Given the description of an element on the screen output the (x, y) to click on. 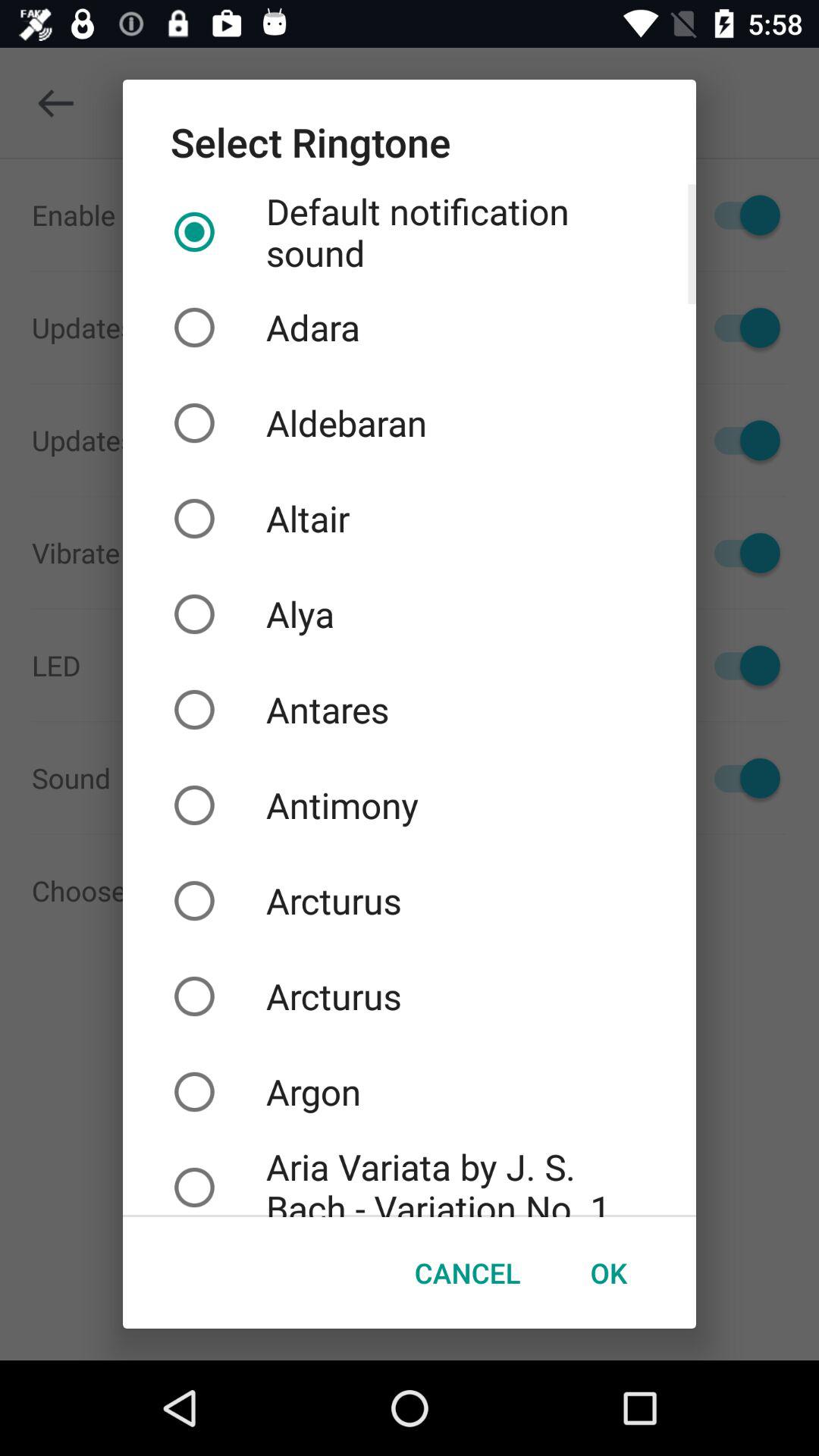
launch the cancel button (467, 1272)
